Given the description of an element on the screen output the (x, y) to click on. 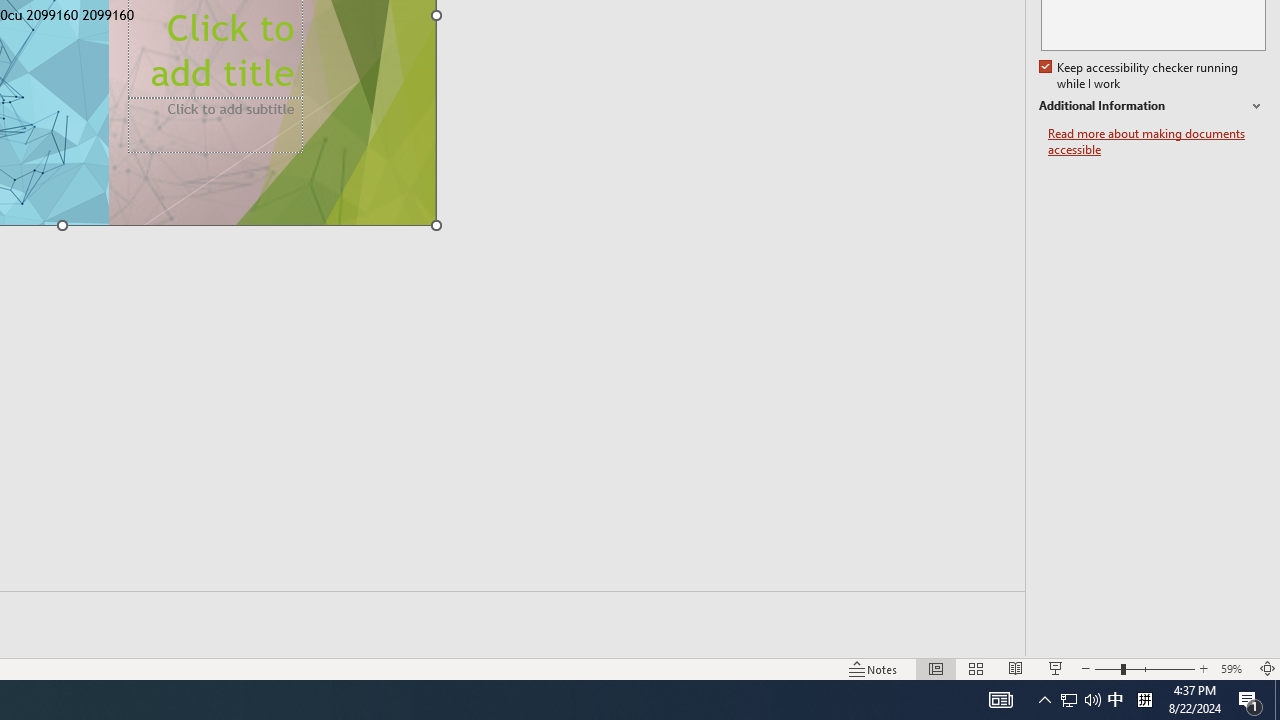
Zoom 59% (1234, 668)
